Given the description of an element on the screen output the (x, y) to click on. 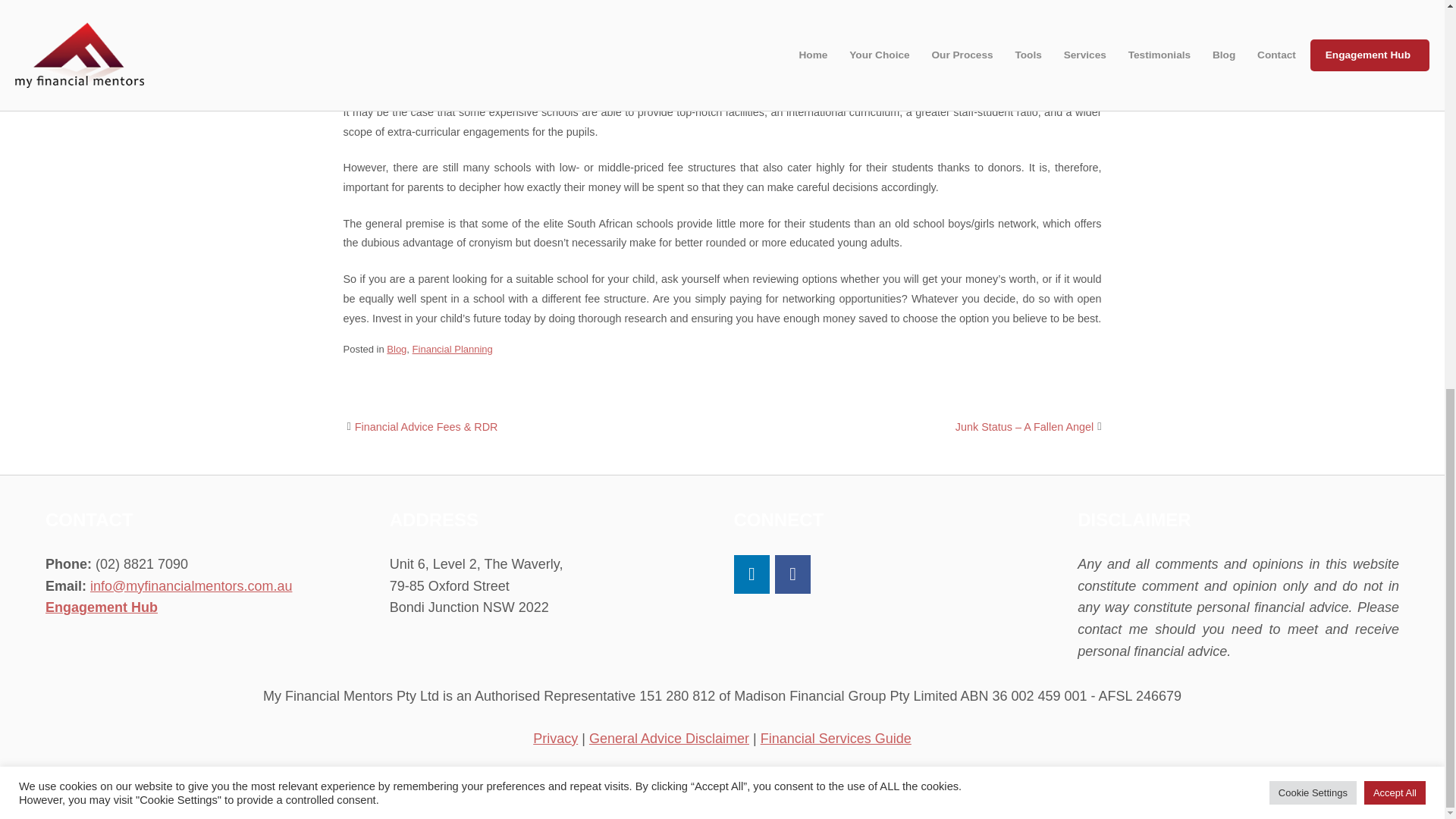
Financial Services Guide (835, 738)
Accept All (1394, 53)
My Financial Mentors on Facebook (792, 574)
Blog (396, 348)
General Advice Disclaimer (669, 738)
Financial Planning (452, 348)
My Financial Mentors on Linkedin (751, 574)
Engagement Hub (101, 607)
Contatto (835, 798)
Cookie Settings (1312, 53)
Privacy (555, 738)
